Given the description of an element on the screen output the (x, y) to click on. 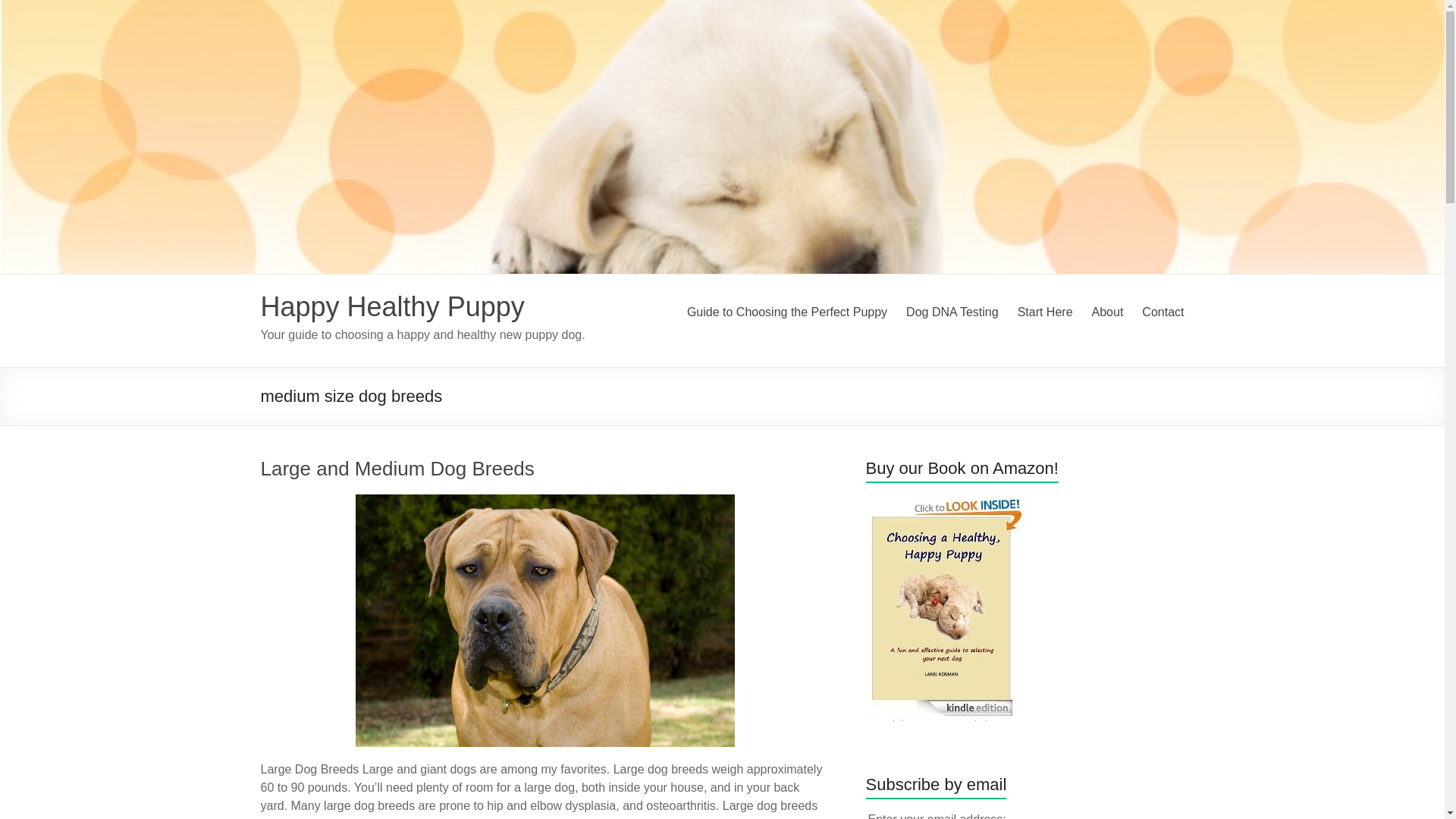
Large and Medium Dog Breeds (544, 501)
Large and Medium Dog Breeds (397, 468)
Large and Medium Dog Breeds (544, 620)
Contact (1162, 312)
Guide to Choosing the Perfect Puppy (786, 312)
Start Here (1045, 312)
About (1108, 312)
Happy Healthy Puppy (392, 306)
Dog DNA Testing (951, 312)
Happy Healthy Puppy (392, 306)
Large and Medium Dog Breeds (397, 468)
